Given the description of an element on the screen output the (x, y) to click on. 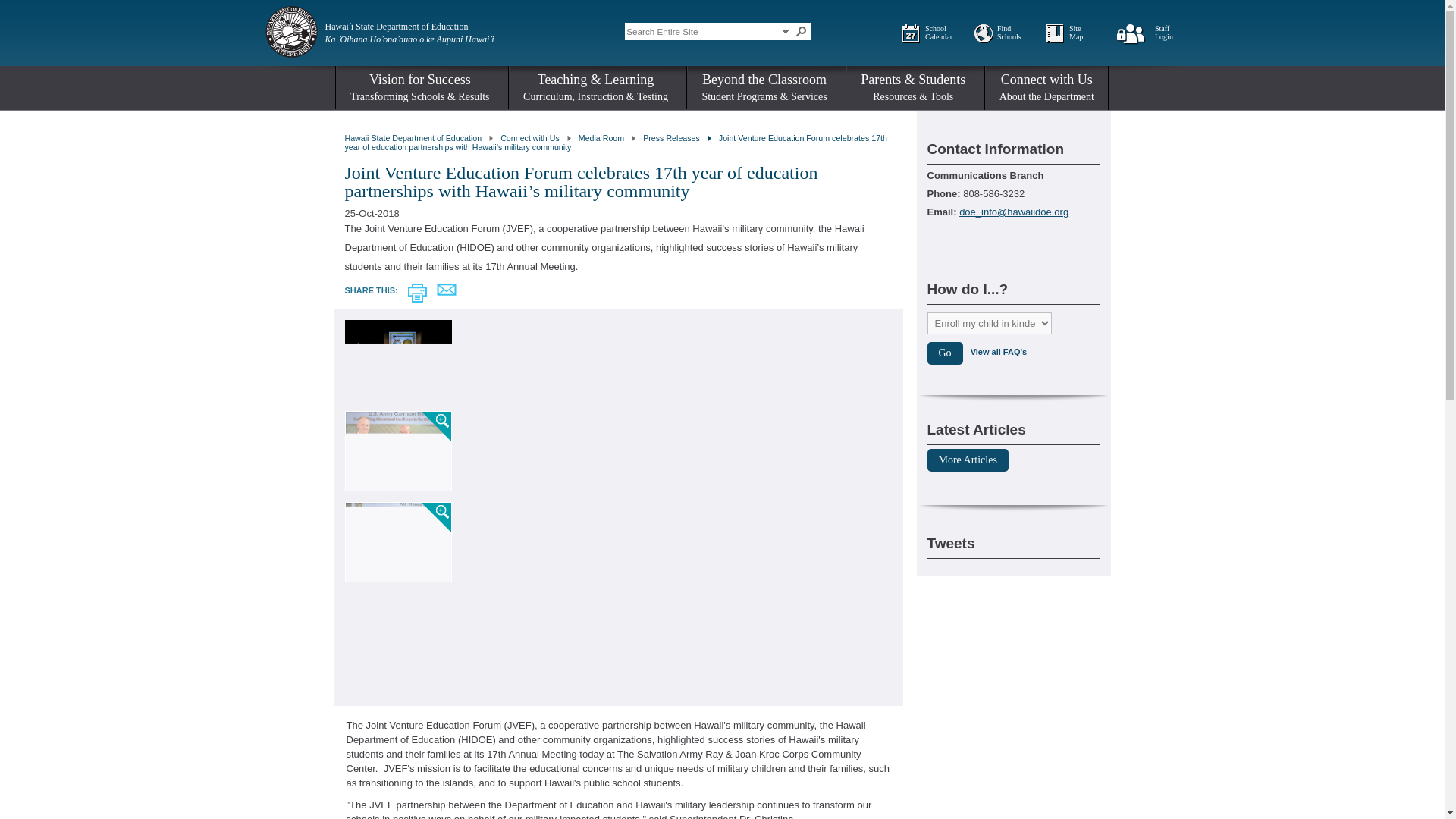
Staff Login (1169, 32)
Search Entire Site (701, 30)
Search (801, 30)
Information about HIDOE (529, 137)
Top level site (1083, 32)
Find Schools (412, 137)
School Calendar (1012, 32)
Navigation (939, 32)
Search Entire Site (785, 30)
